Given the description of an element on the screen output the (x, y) to click on. 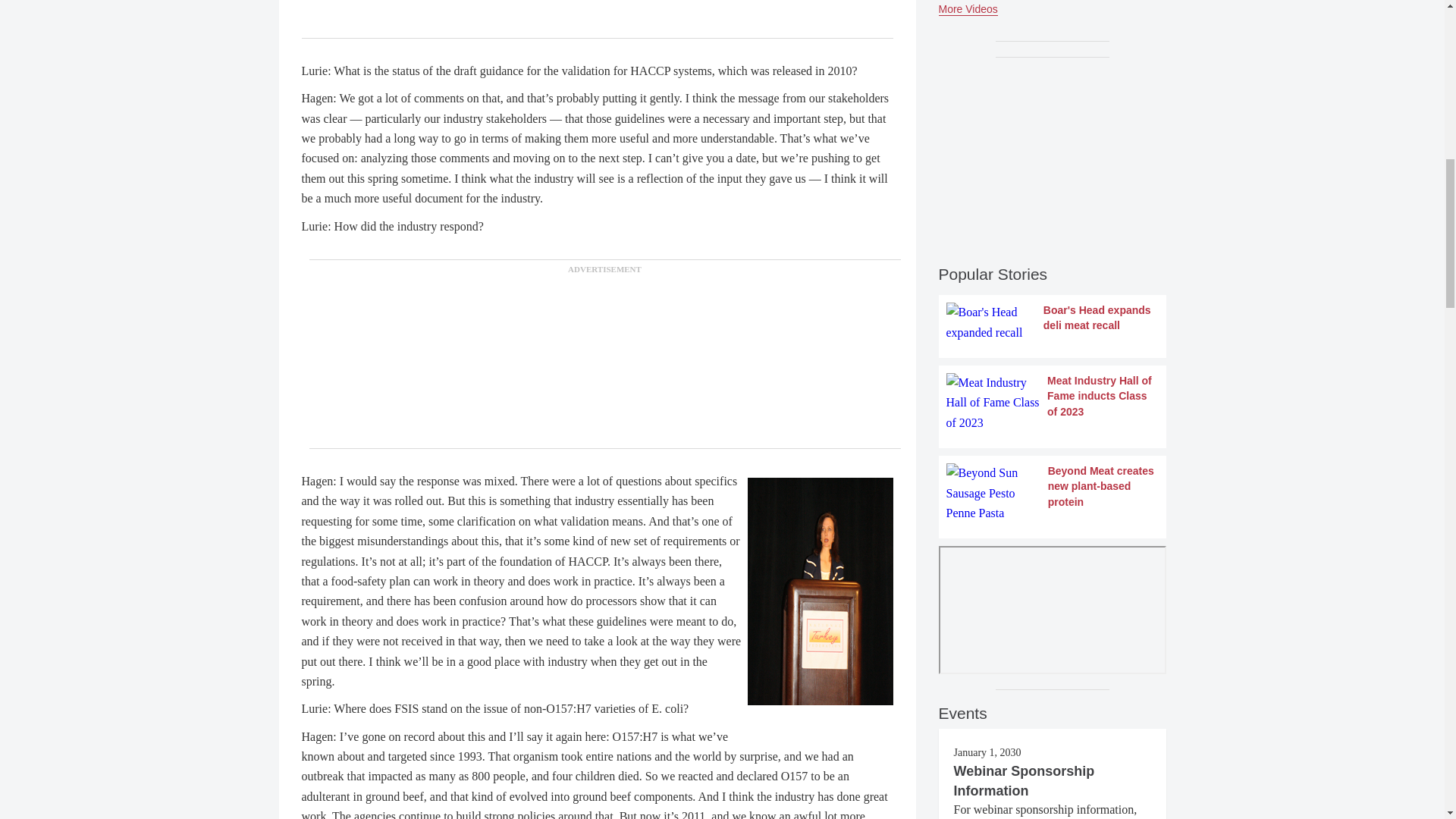
Webinar Sponsorship Information (1023, 780)
Beyond Meat creates new plant-based protein (1052, 493)
Meat Industry Hall of Fame inducts Class of 2023 (1052, 403)
Boar's Head expands deli meat recall (1052, 322)
